Given the description of an element on the screen output the (x, y) to click on. 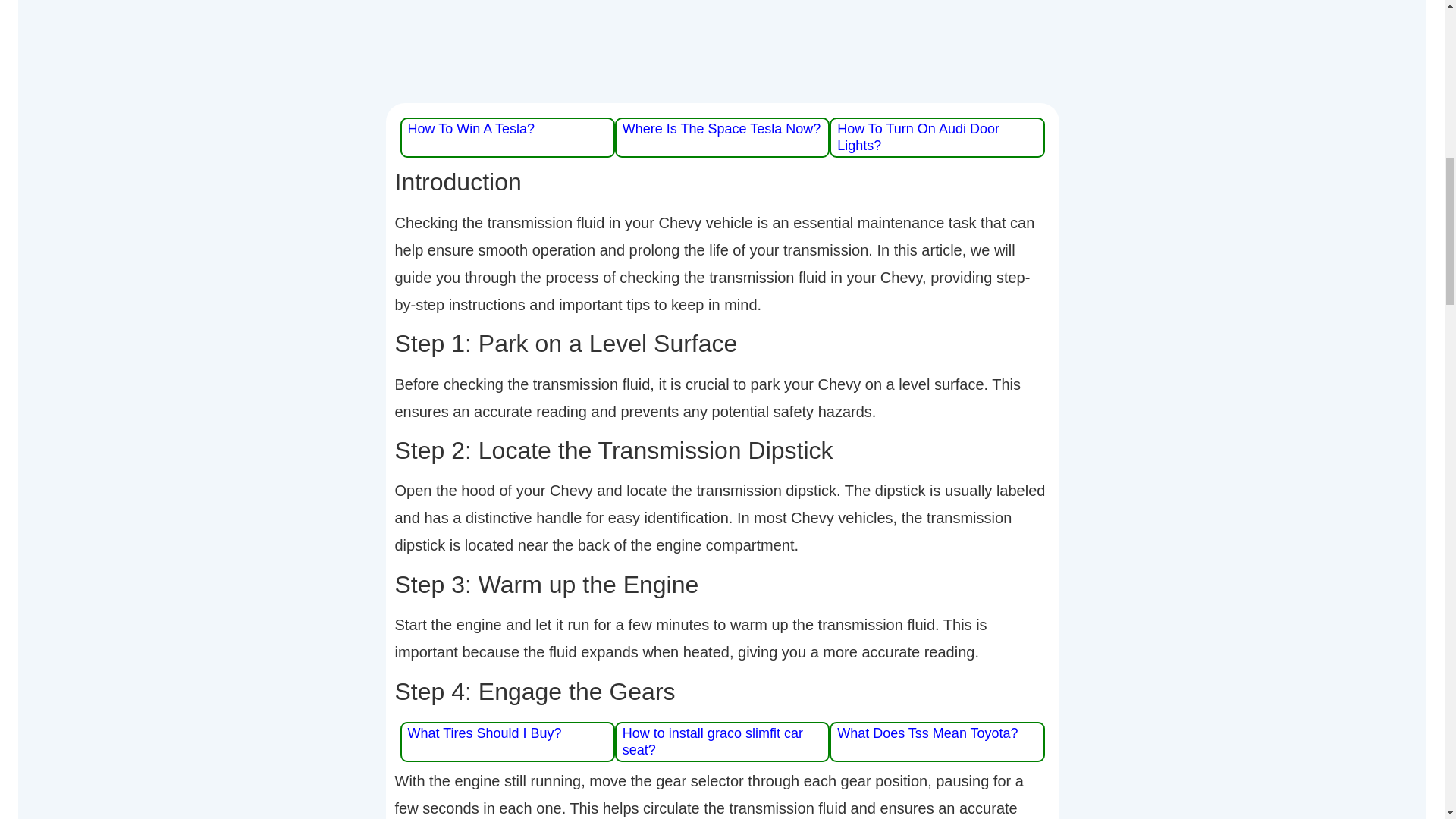
What Tires Should I Buy? (484, 733)
How To Turn On Audi Door Lights? (917, 137)
Step 1: Park on a Level Surface (721, 343)
Introduction (721, 181)
Step 2: Locate the Transmission Dipstick (721, 450)
Step 3: Warm up the Engine (721, 584)
How To Win A Tesla? (470, 128)
What Does Tss Mean Toyota? (927, 733)
Where Is The Space Tesla Now? (722, 128)
How to install graco slimfit car seat? (713, 741)
Step 4: Engage the Gears (721, 691)
